Given the description of an element on the screen output the (x, y) to click on. 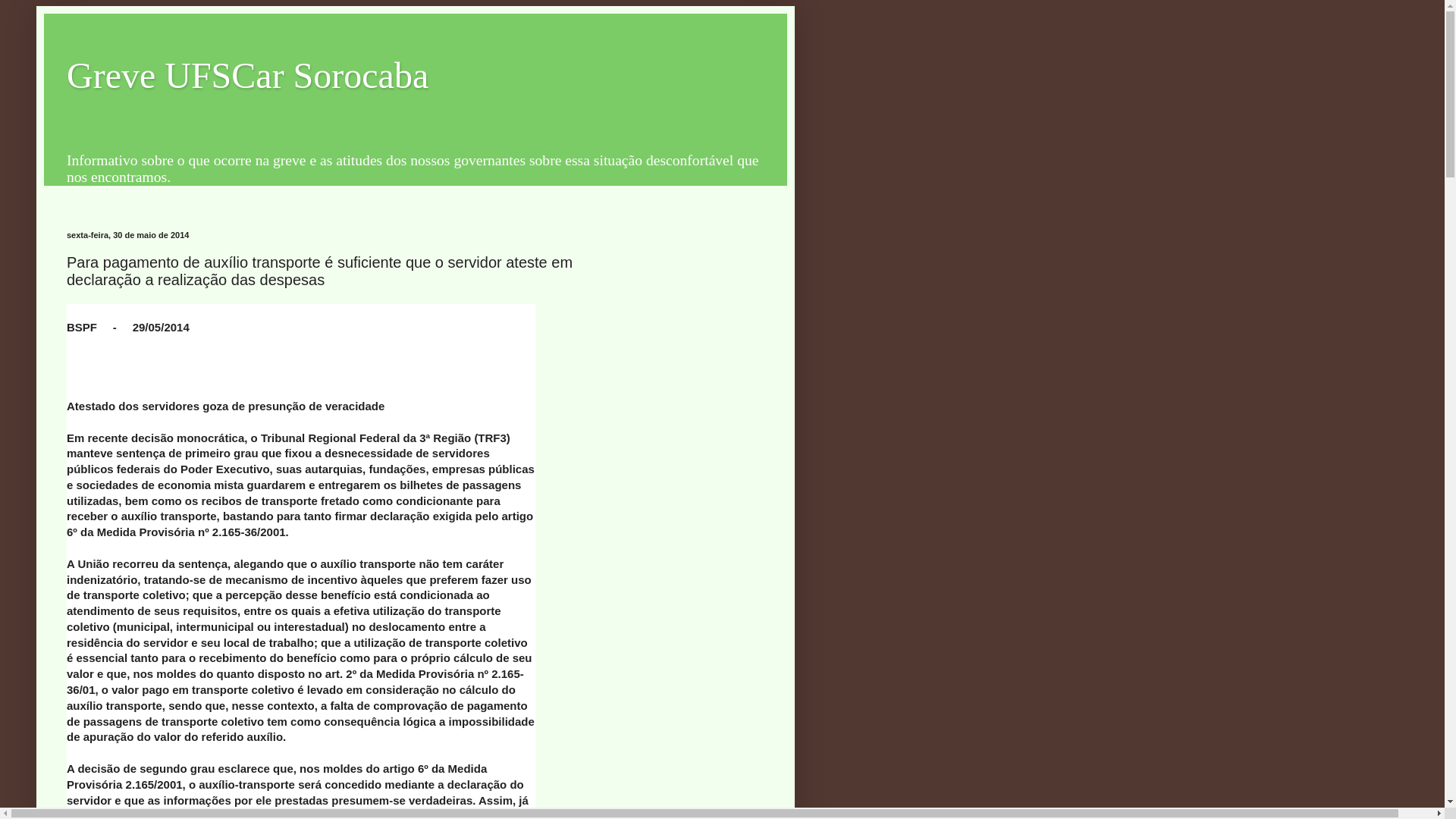
Greve UFSCar Sorocaba Element type: text (247, 75)
